Given the description of an element on the screen output the (x, y) to click on. 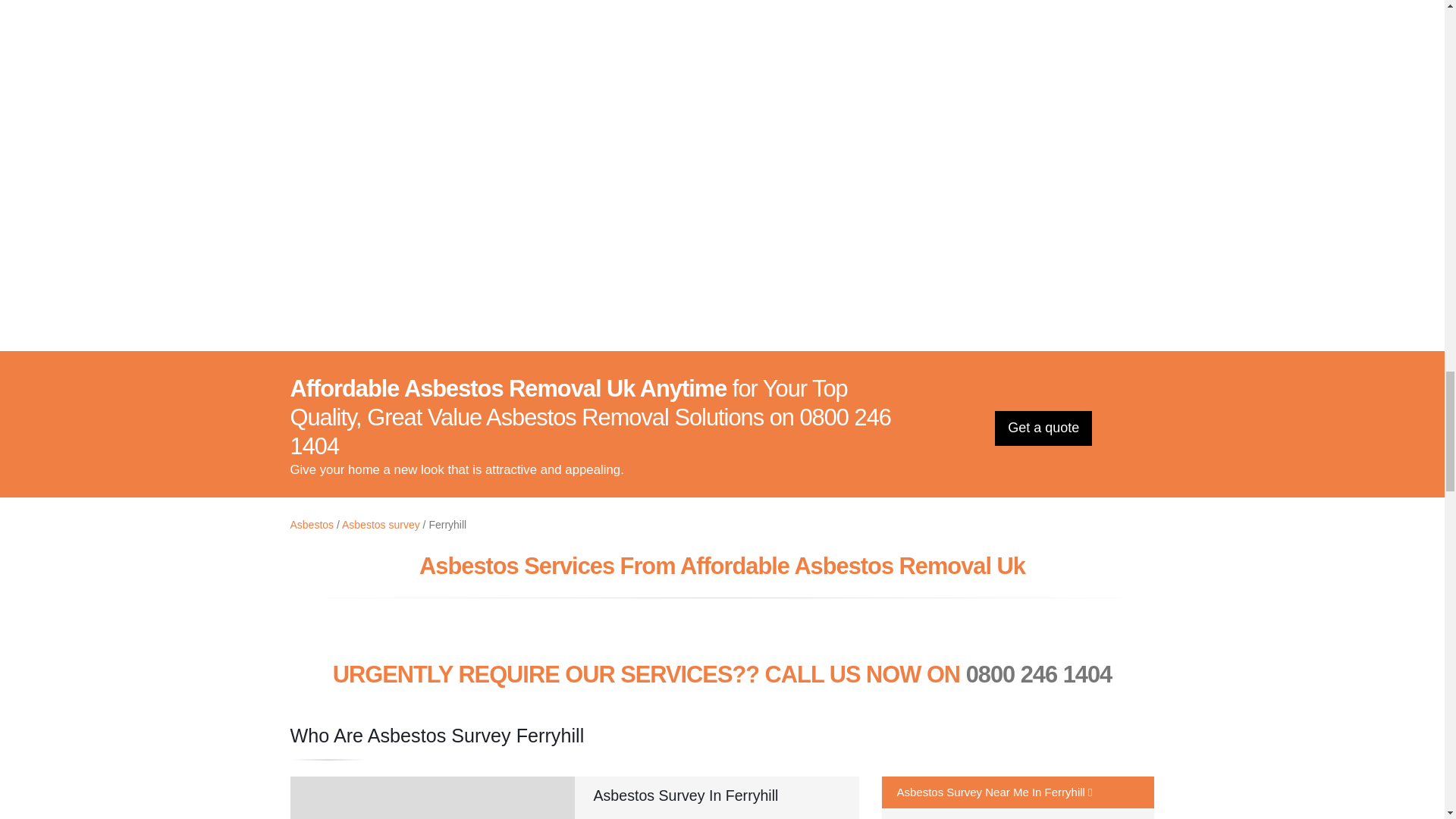
Asbestos Disposal UK United Kingdom (721, 182)
Get a quote (1043, 428)
Asbestos survey (381, 524)
Asbestos (311, 524)
